Given the description of an element on the screen output the (x, y) to click on. 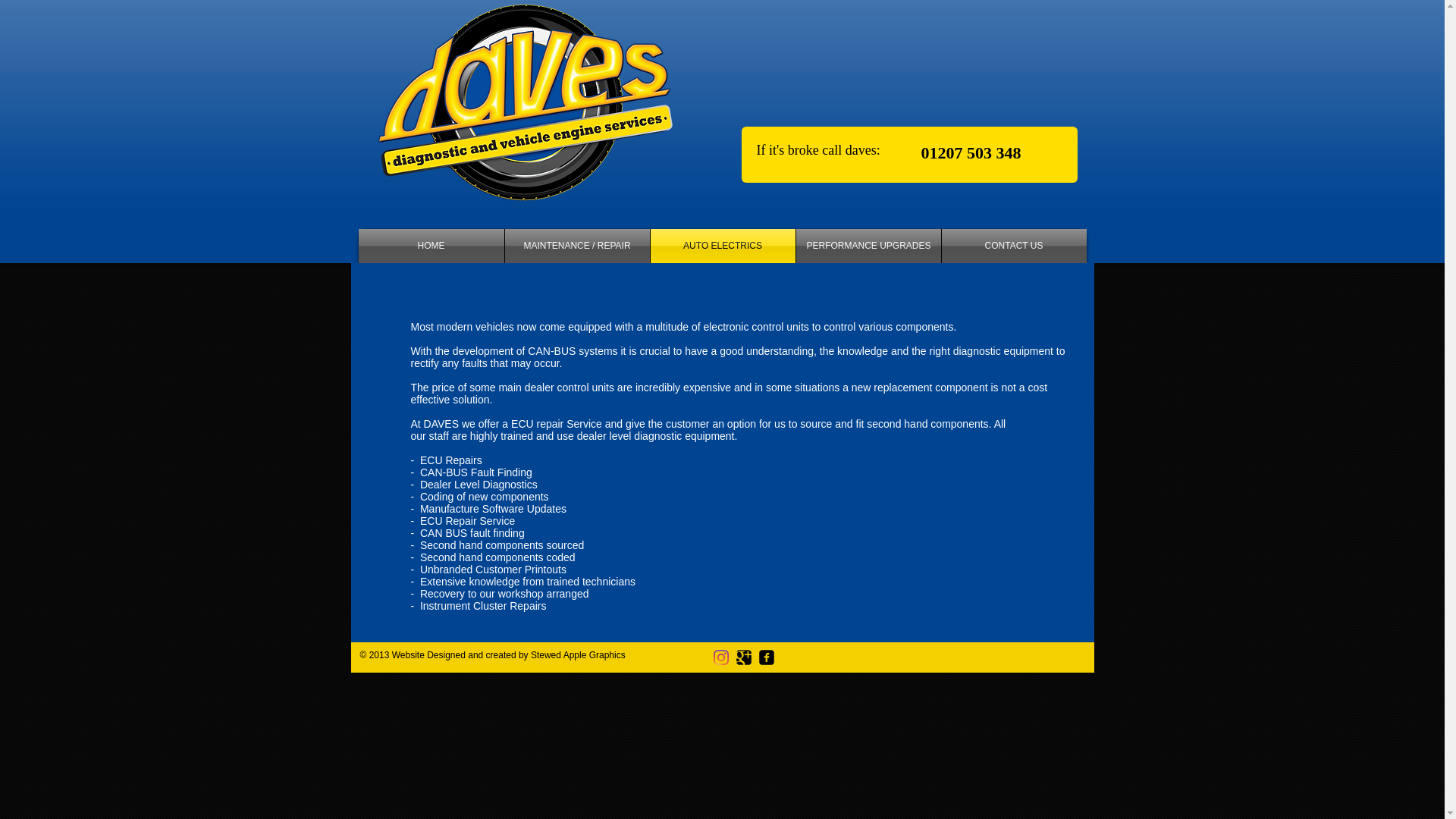
Facebook Like (988, 101)
HOME (430, 245)
CONTACT US (1014, 245)
PERFORMANCE UPGRADES (868, 245)
AUTO ELECTRICS (722, 245)
Daves Logo yellow.png (523, 121)
